Given the description of an element on the screen output the (x, y) to click on. 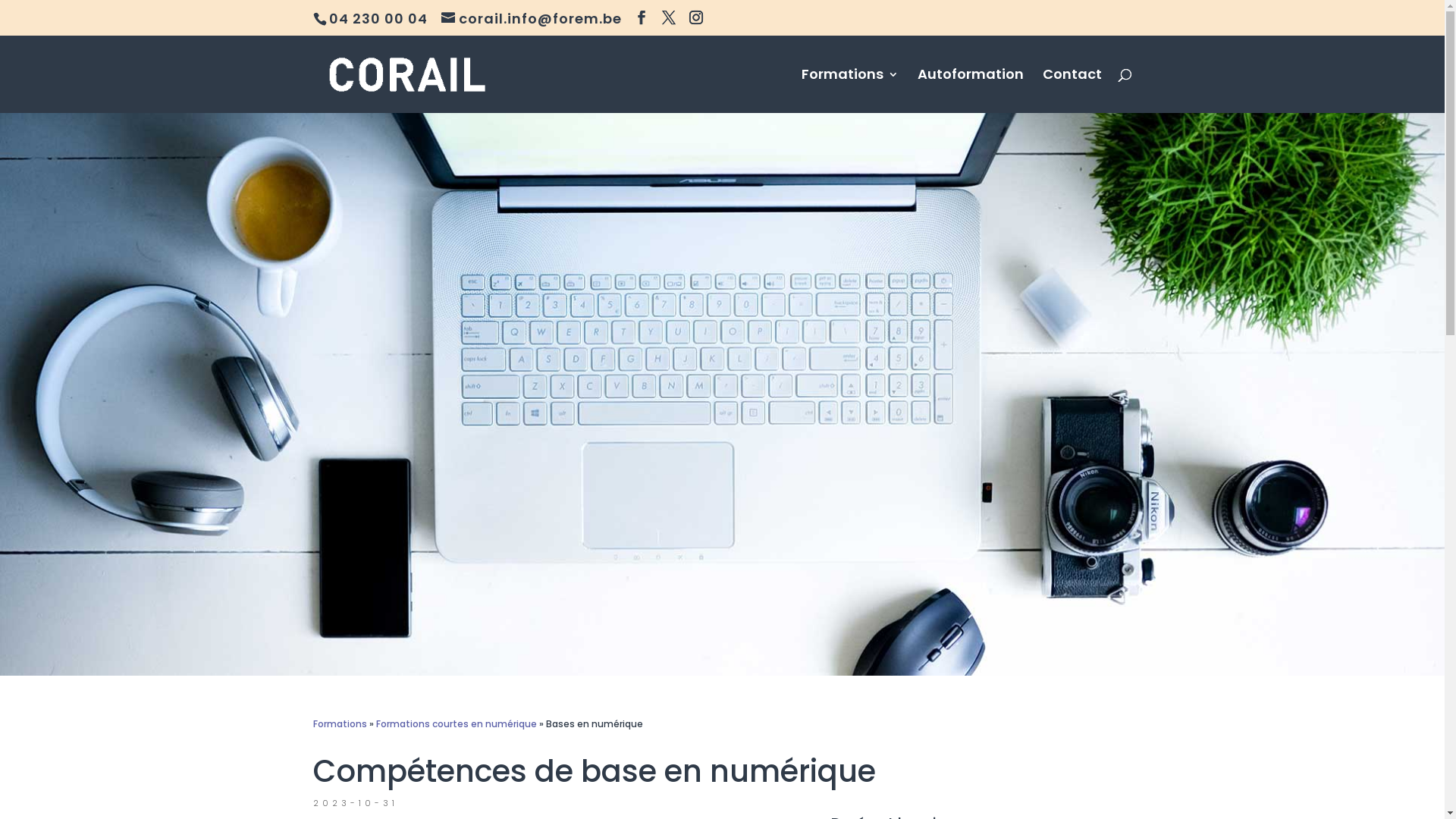
Formations Element type: text (339, 723)
Formations Element type: text (848, 90)
corail.info@forem.be Element type: text (531, 18)
Autoformation Element type: text (970, 90)
Contact Element type: text (1071, 90)
formation-bases-numerique Element type: hover (722, 393)
